Given the description of an element on the screen output the (x, y) to click on. 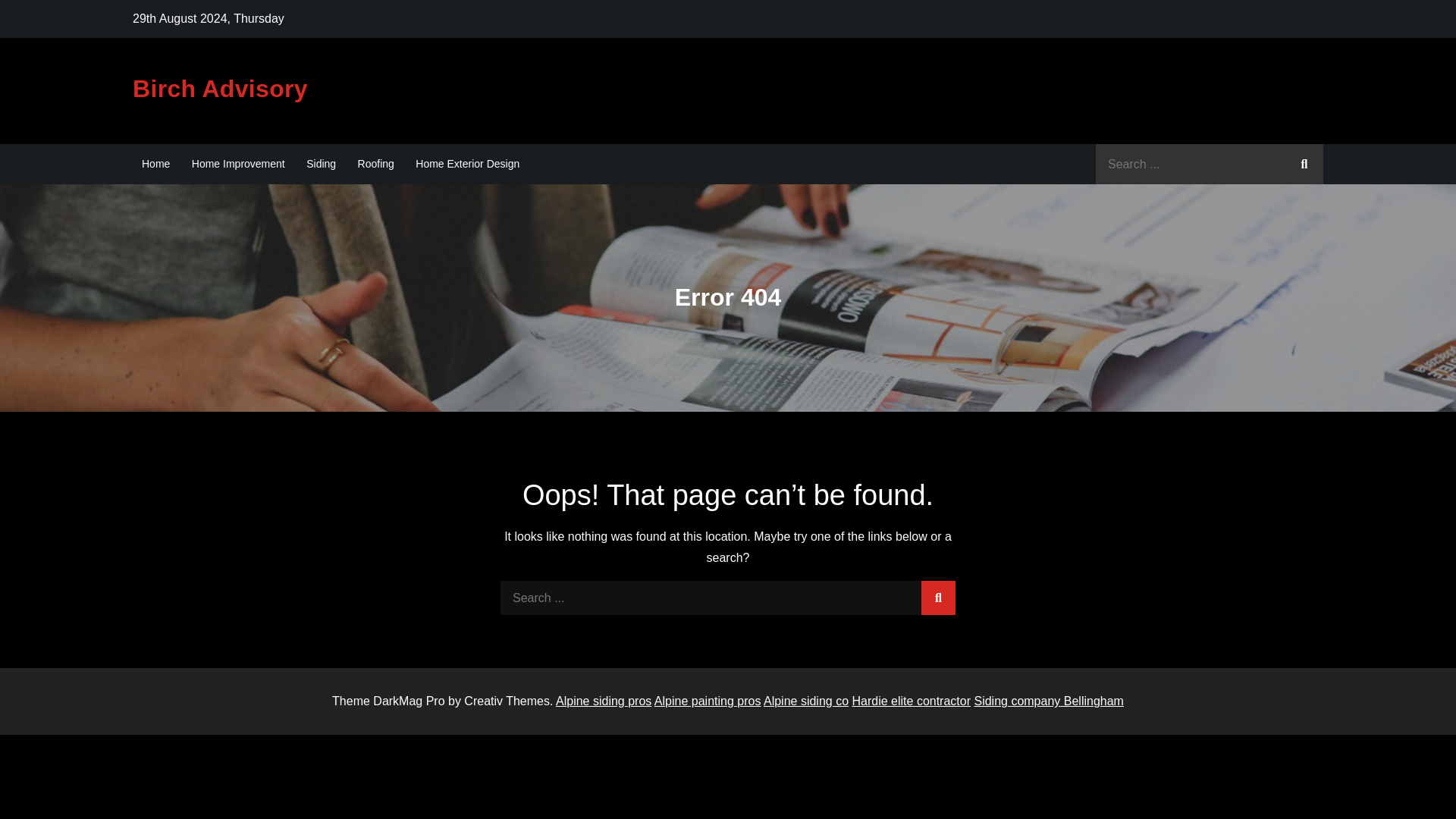
Siding company Bellingham (1048, 700)
Search for: (1209, 164)
Home (155, 163)
Alpine siding co (805, 700)
Search (938, 597)
Search (1304, 164)
Alpine siding pros (603, 700)
Roofing (376, 163)
Home Improvement (238, 163)
Birch Advisory (219, 88)
